Given the description of an element on the screen output the (x, y) to click on. 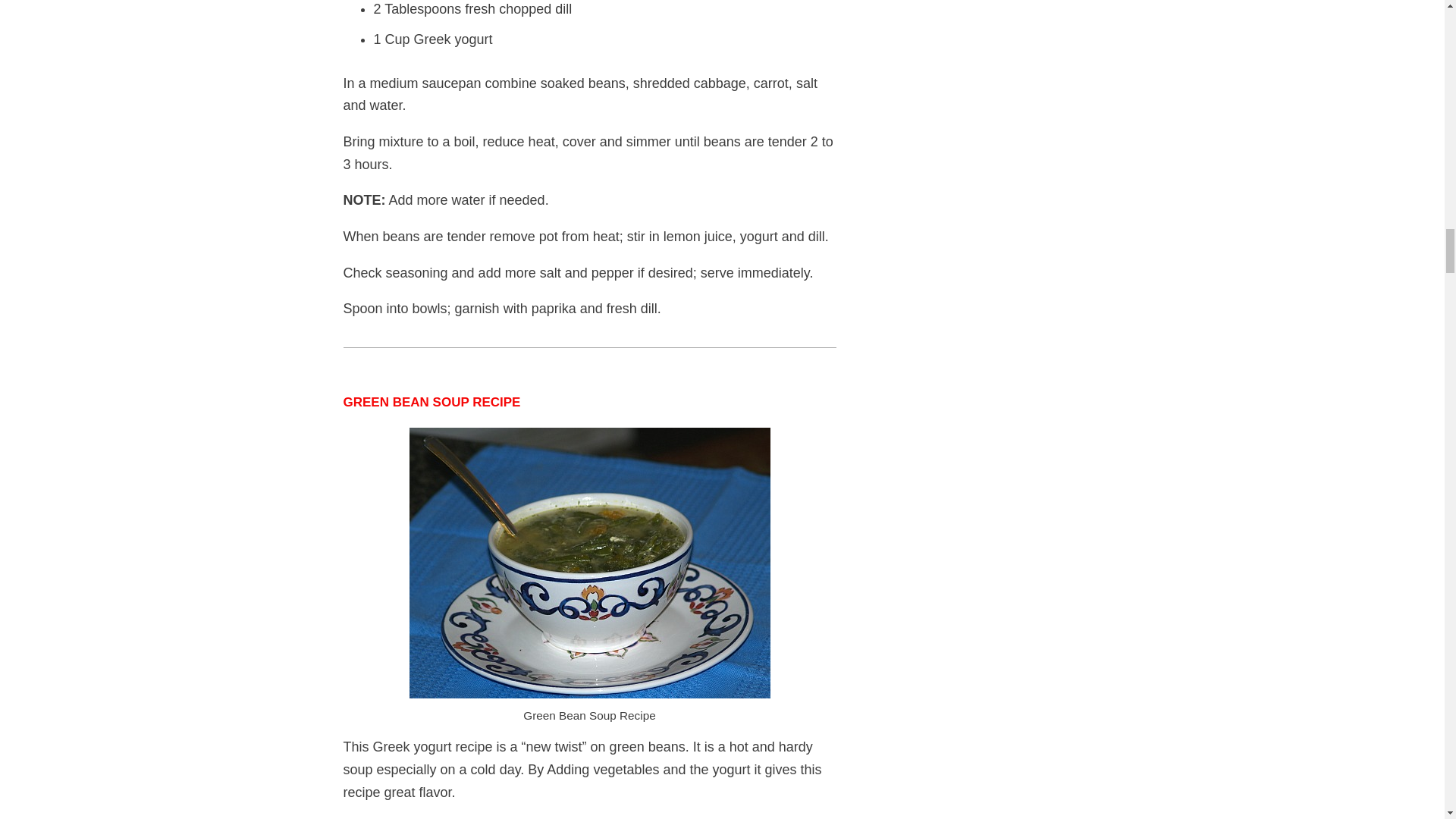
Green Bean Soup Recipe (589, 562)
